Given the description of an element on the screen output the (x, y) to click on. 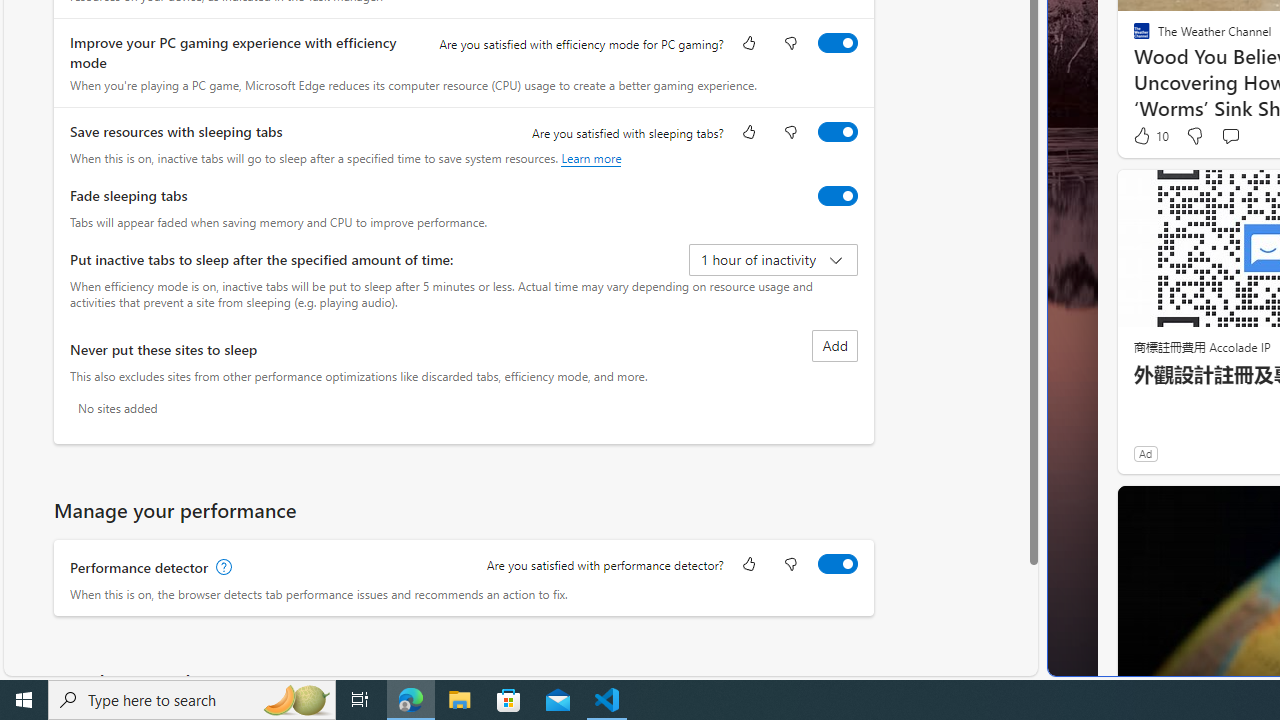
Learn more (591, 158)
Improve your PC gaming experience with efficiency mode (837, 43)
Like (748, 565)
Performance detector (837, 563)
Performance detector, learn more (221, 567)
Save resources with sleeping tabs (837, 131)
Fade sleeping tabs (837, 195)
Add site to never put these sites to sleep list (834, 345)
